Given the description of an element on the screen output the (x, y) to click on. 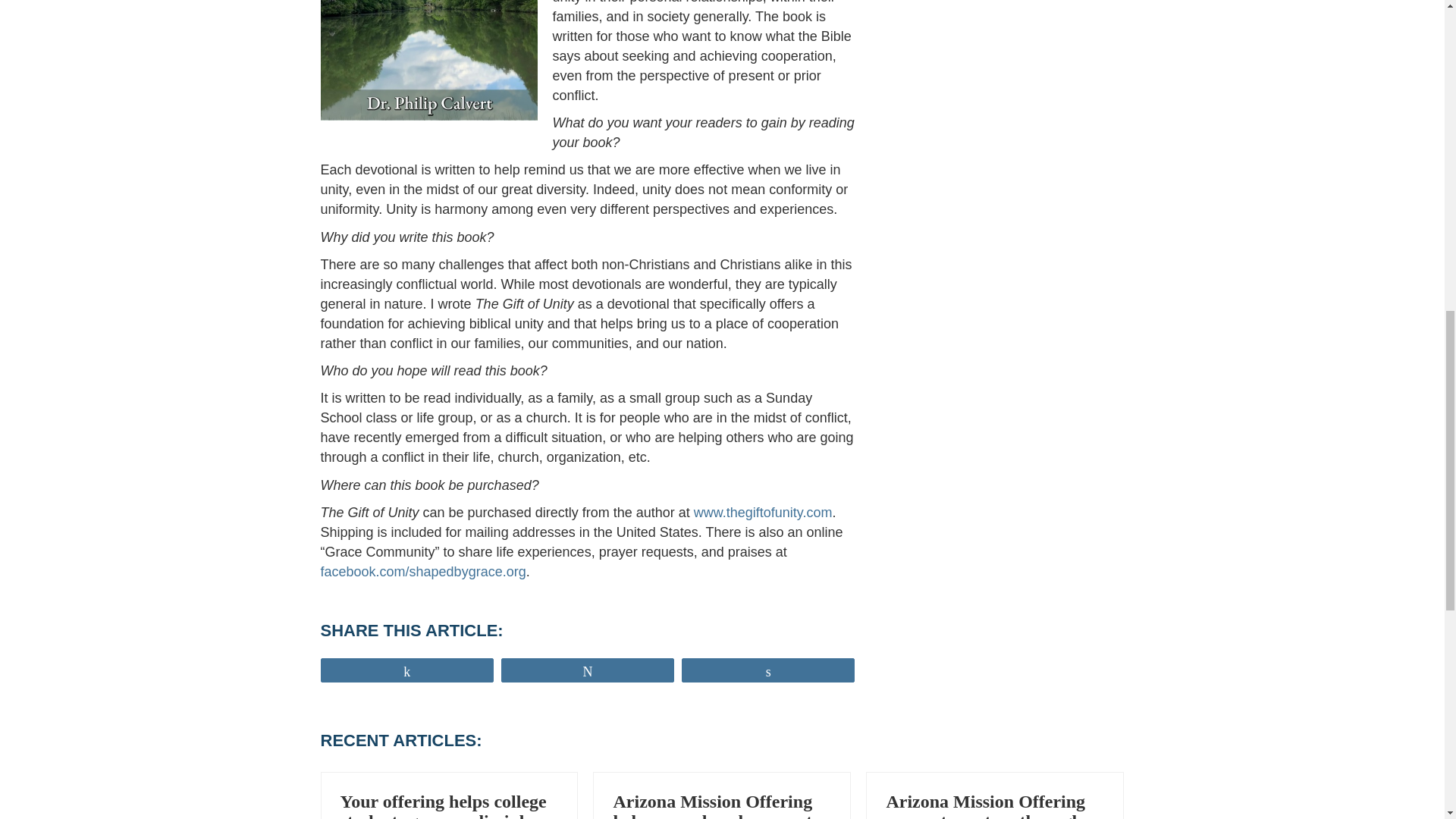
www.thegiftofunity.com (763, 512)
Your offering helps college students grow as disciples (442, 805)
